Given the description of an element on the screen output the (x, y) to click on. 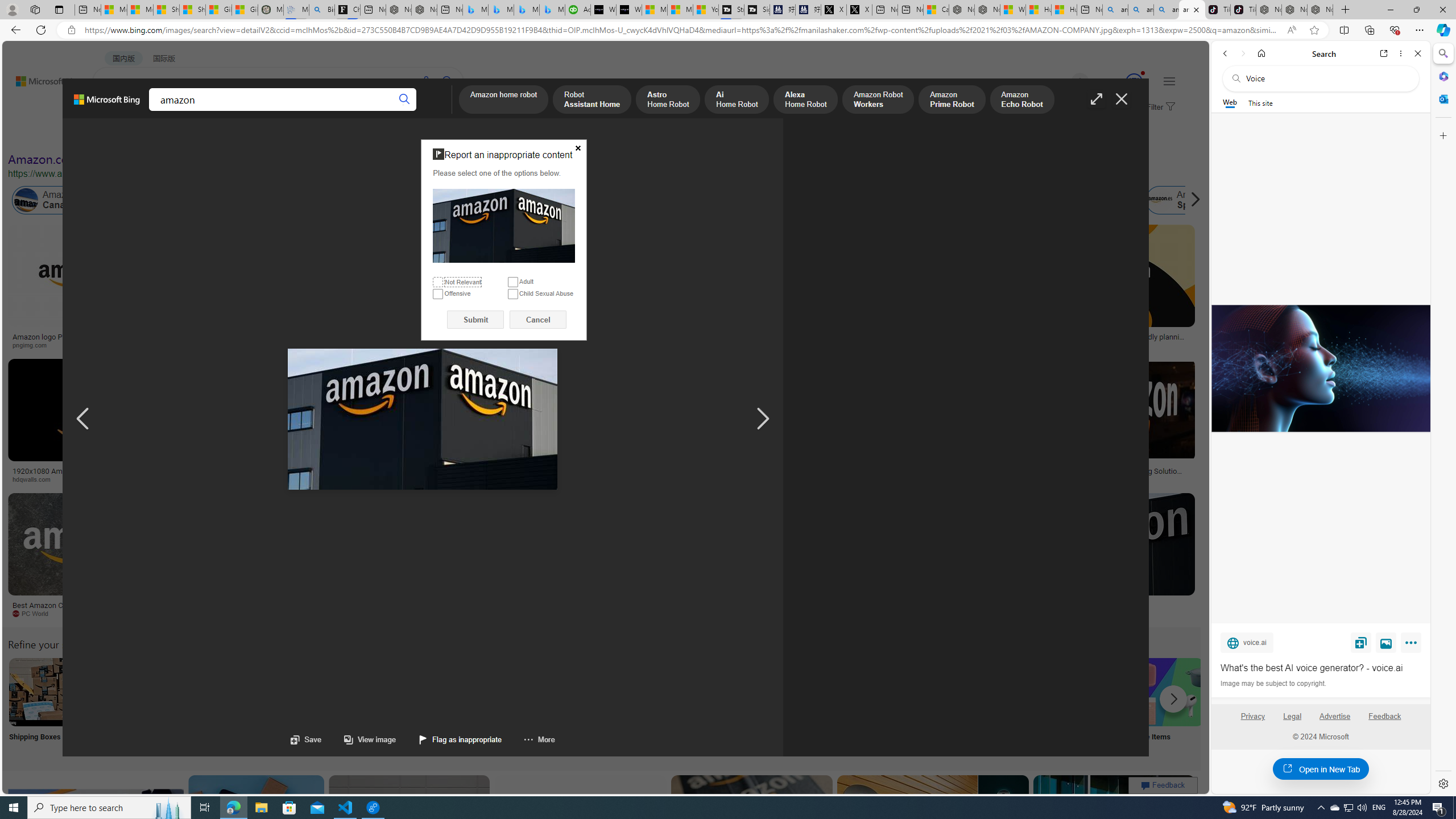
Accounting Software for Accountants, CPAs and Bookkeepers (577, 9)
Back to Bing search (41, 78)
Class: medal-circled (1133, 81)
Kindle Paperwhite Case (673, 298)
thewrap.com (533, 613)
cordcuttersnews.com (860, 612)
Search button (404, 99)
